Given the description of an element on the screen output the (x, y) to click on. 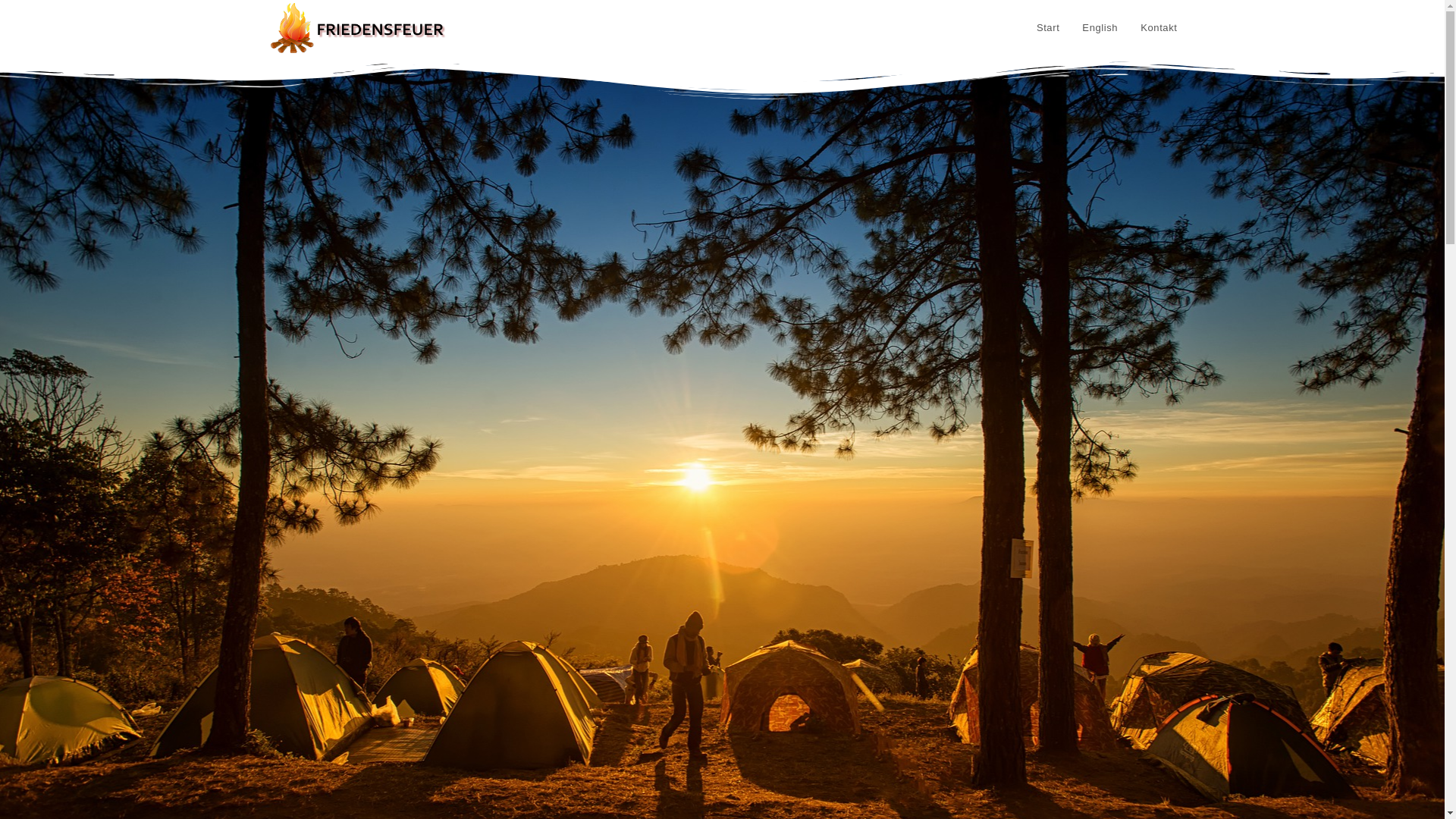
English (1099, 28)
Kontakt (1158, 28)
